Given the description of an element on the screen output the (x, y) to click on. 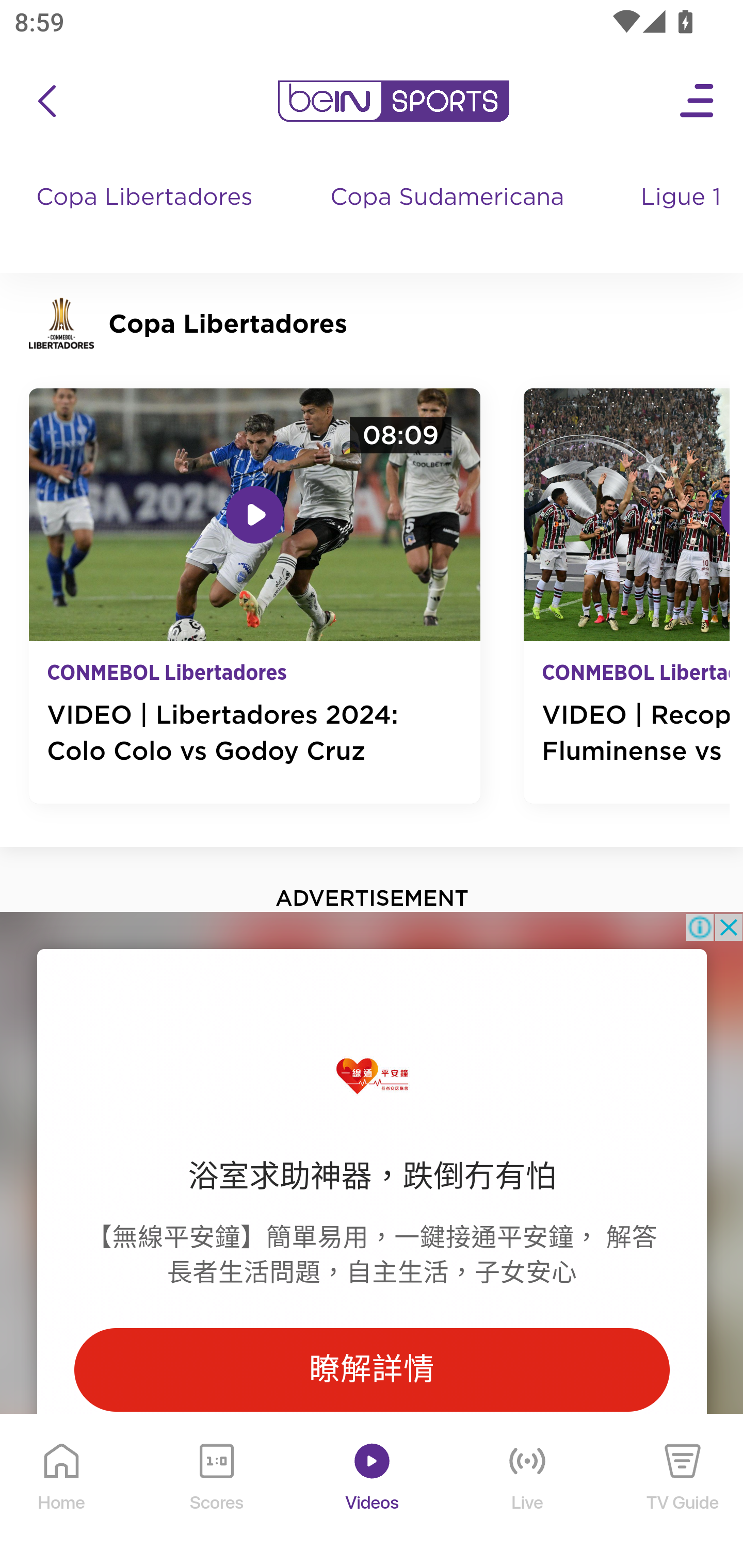
en-us?platform=mobile_android bein logo (392, 101)
icon back (46, 101)
Open Menu Icon (697, 101)
Copa Libertadores (146, 216)
Copa Sudamericana (448, 216)
Ligue 1 (682, 216)
浴室求助神器，跌倒冇有怕 (371, 1175)
瞭解詳情 (371, 1369)
Home Home Icon Home (61, 1491)
Scores Scores Icon Scores (216, 1491)
Videos Videos Icon Videos (372, 1491)
TV Guide TV Guide Icon TV Guide (682, 1491)
